Given the description of an element on the screen output the (x, y) to click on. 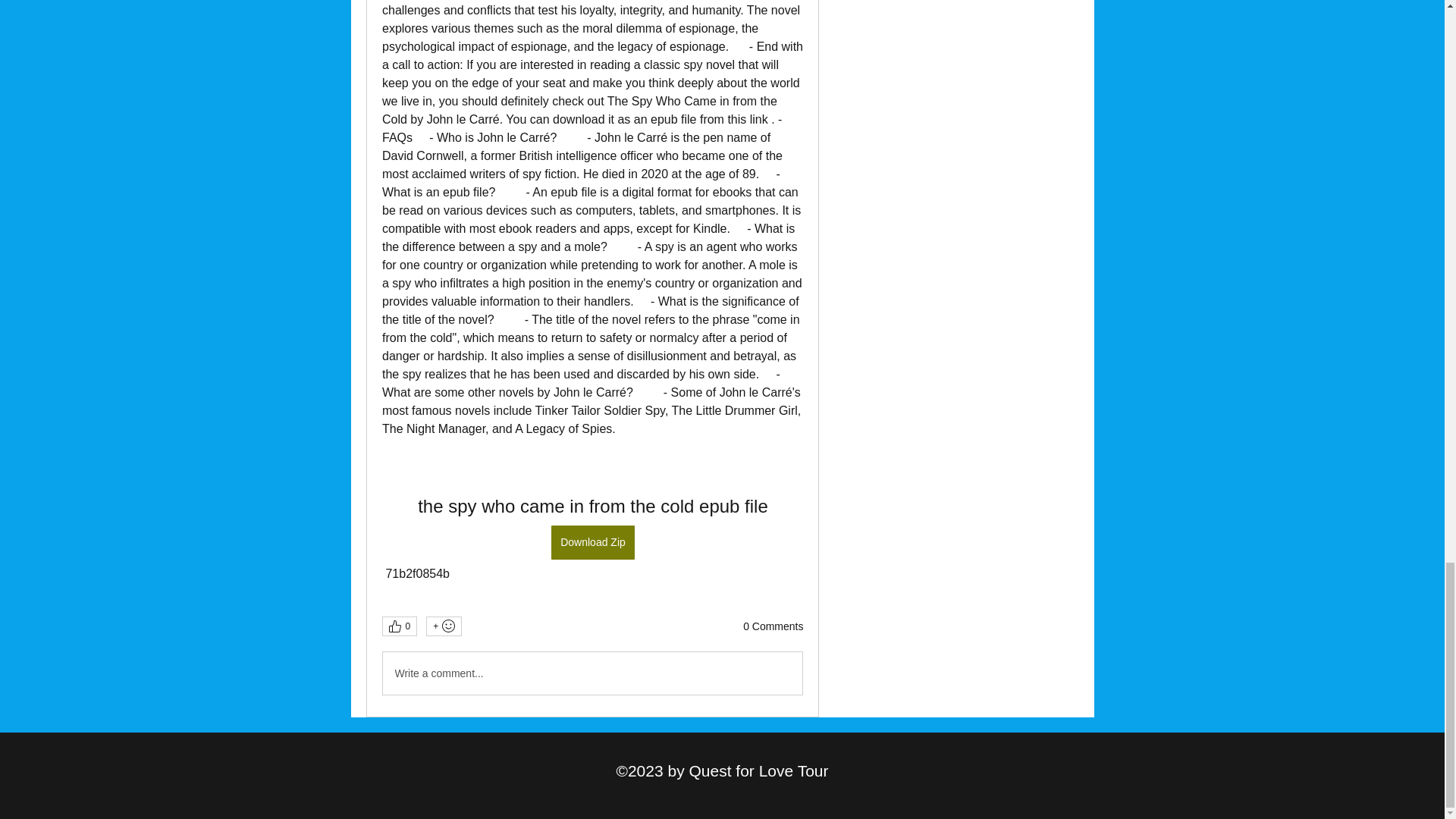
Write a comment... (591, 672)
0 Comments (772, 626)
Download Zip (592, 542)
